Given the description of an element on the screen output the (x, y) to click on. 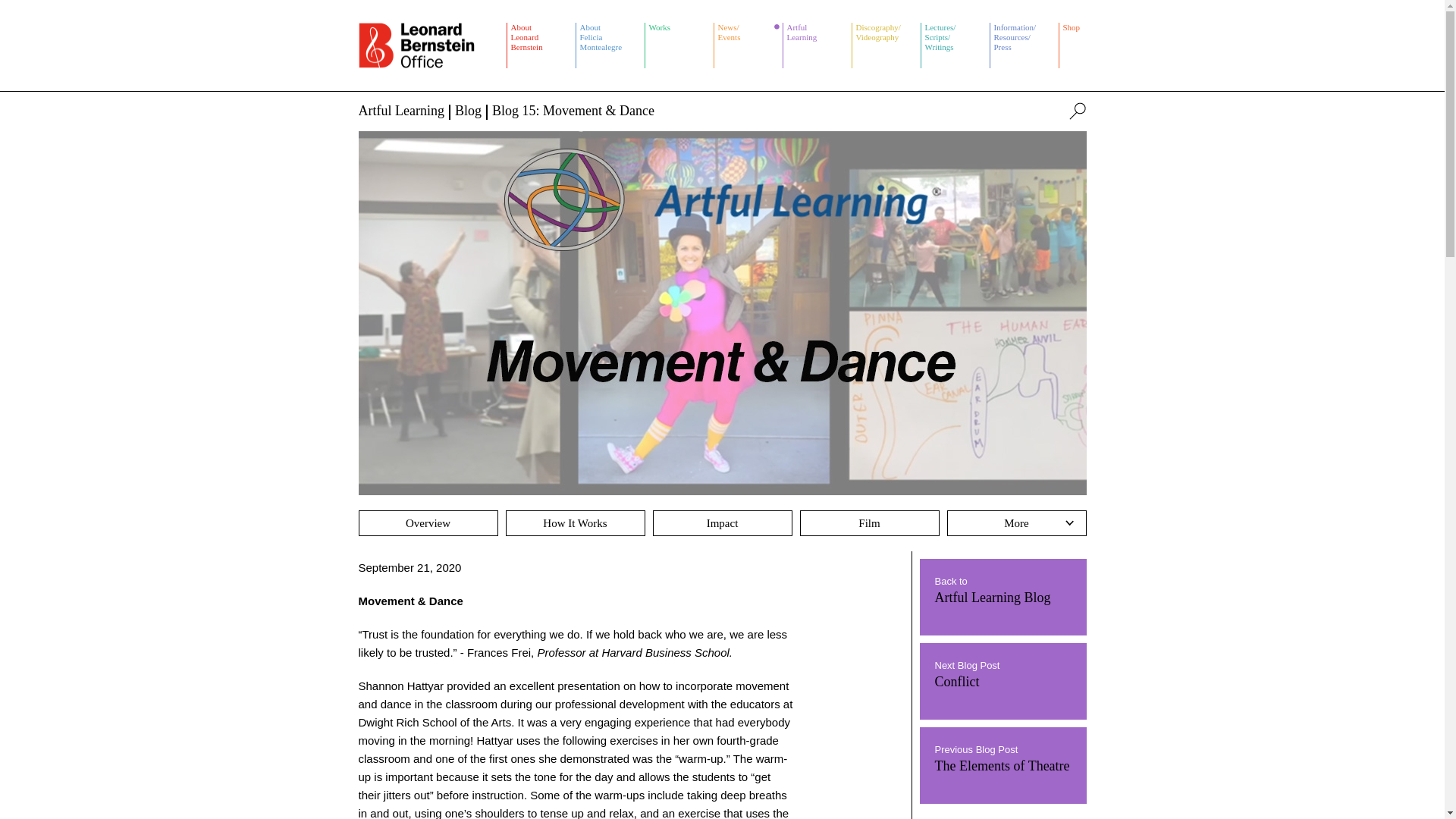
Works (817, 44)
Search... (679, 44)
